Given the description of an element on the screen output the (x, y) to click on. 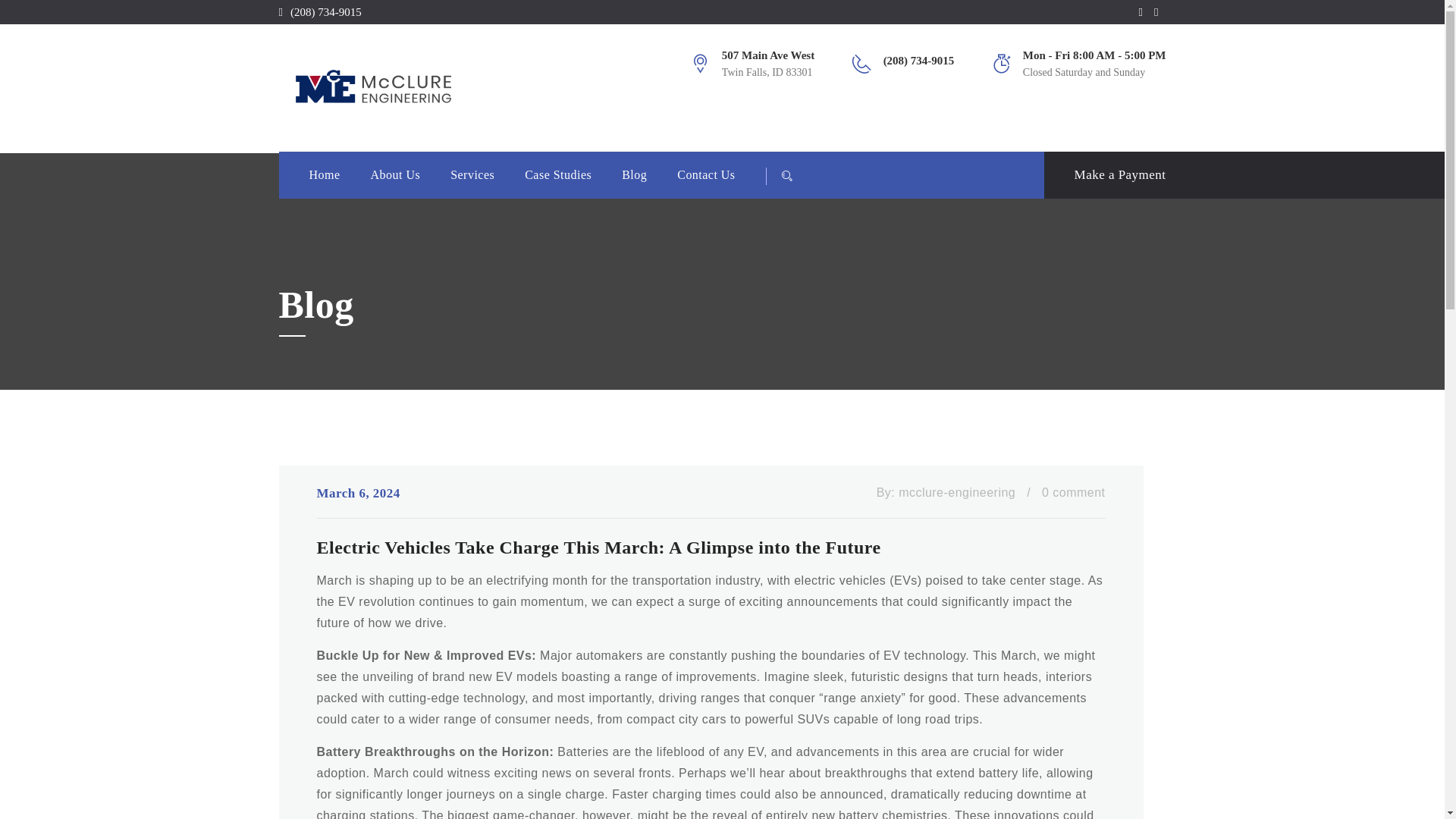
Case Studies (557, 174)
March 6, 2024 (358, 493)
McClure Engineering (422, 87)
Facebook (1144, 11)
LinkedIn (1160, 11)
Services (472, 174)
Contact Us (706, 174)
mcclure-engineering (956, 492)
Blog (633, 174)
Blog (633, 174)
Home (324, 174)
Make a Payment (1104, 174)
Case Studies (557, 174)
Contact Us (706, 174)
About Us (395, 174)
